Given the description of an element on the screen output the (x, y) to click on. 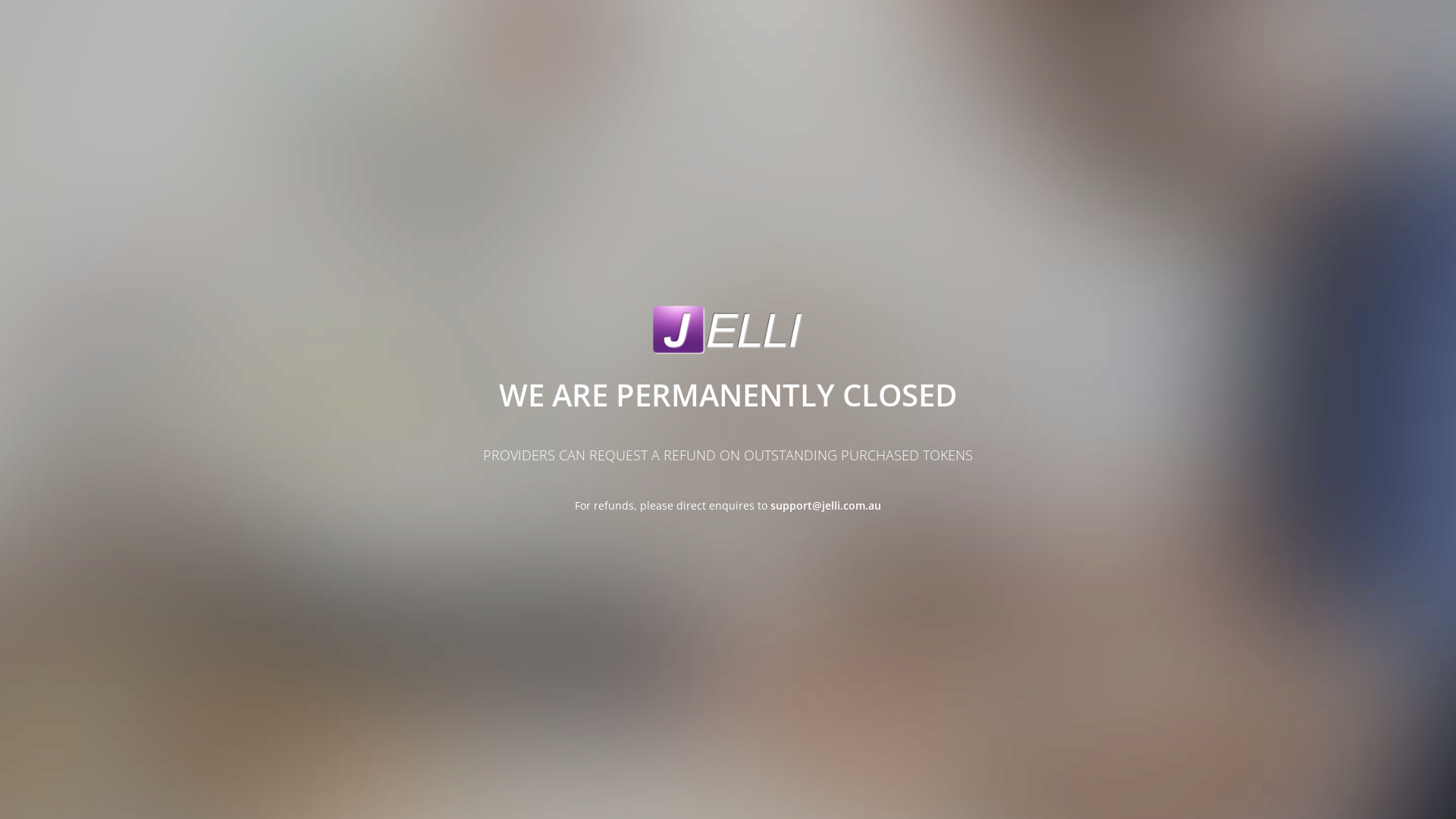
support@jelli.com.au Element type: text (825, 505)
